Given the description of an element on the screen output the (x, y) to click on. 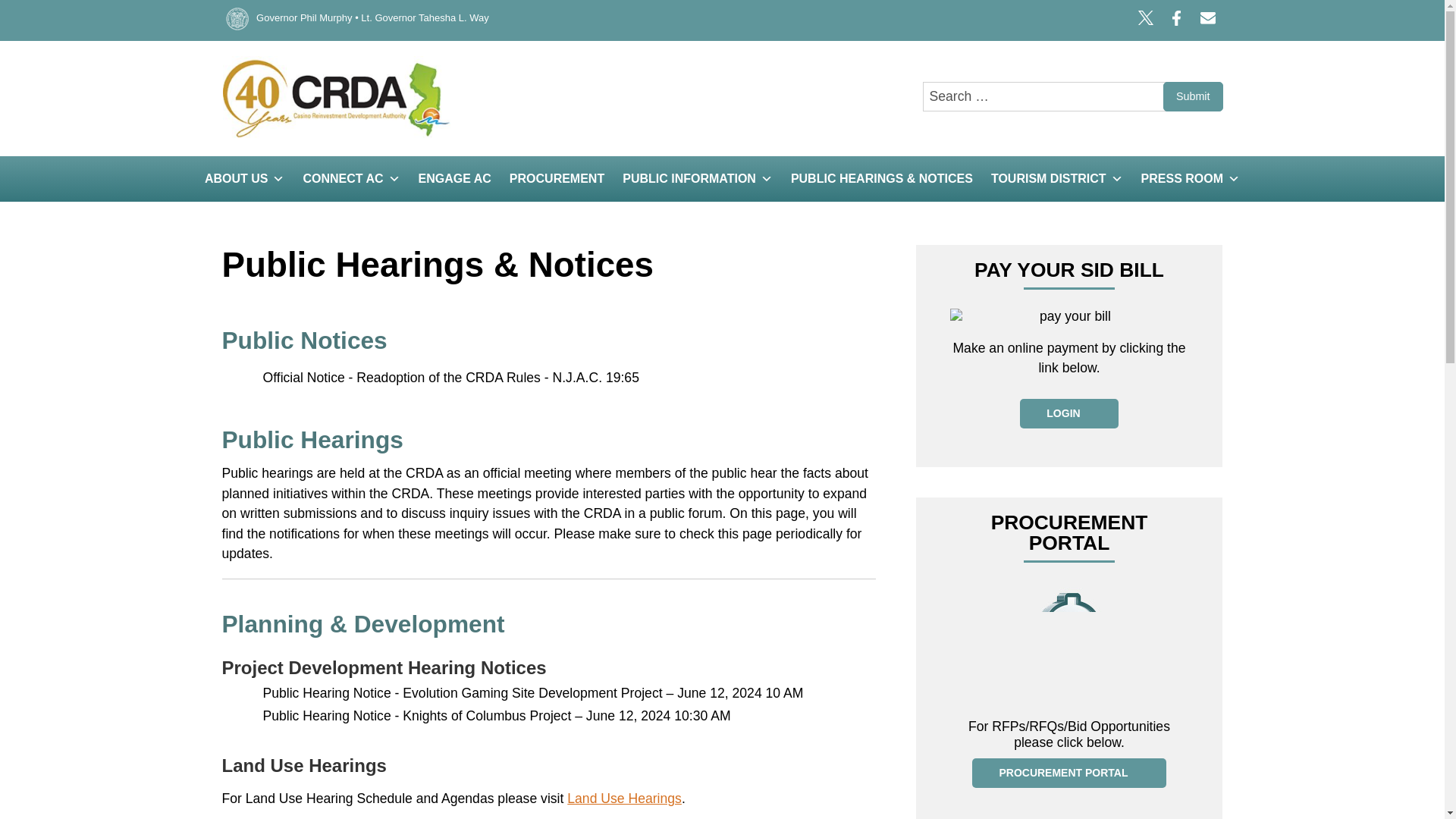
PROCUREMENT (556, 178)
Submit (1193, 96)
PUBLIC INFORMATION (696, 178)
TOURISM DISTRICT (1056, 178)
CONNECT AC (351, 178)
ABOUT US (244, 178)
ENGAGE AC (454, 178)
